Given the description of an element on the screen output the (x, y) to click on. 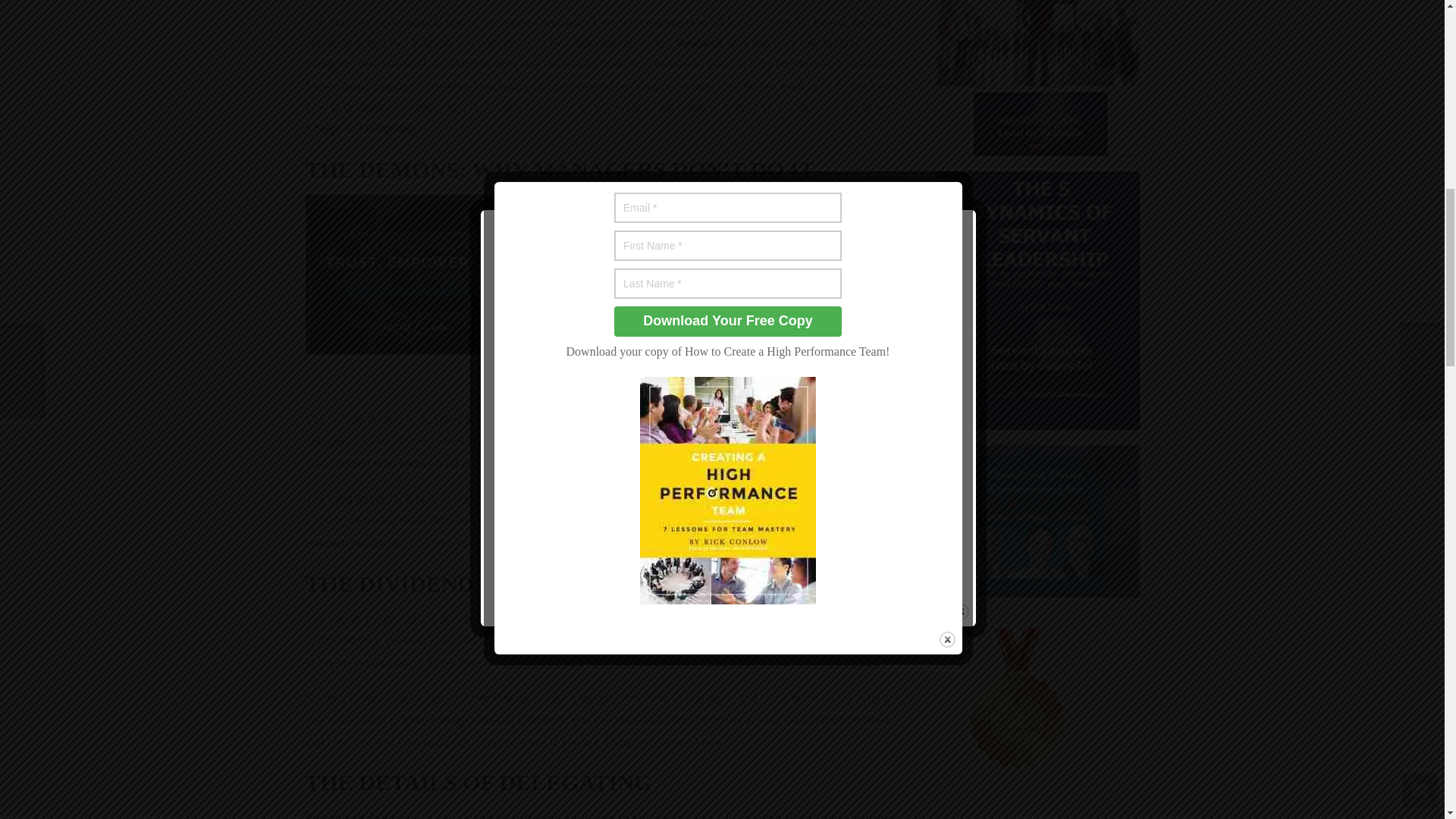
Print (836, 1)
Rick Conlow International Coaching Services (1038, 521)
leadership blogs (1018, 708)
